Given the description of an element on the screen output the (x, y) to click on. 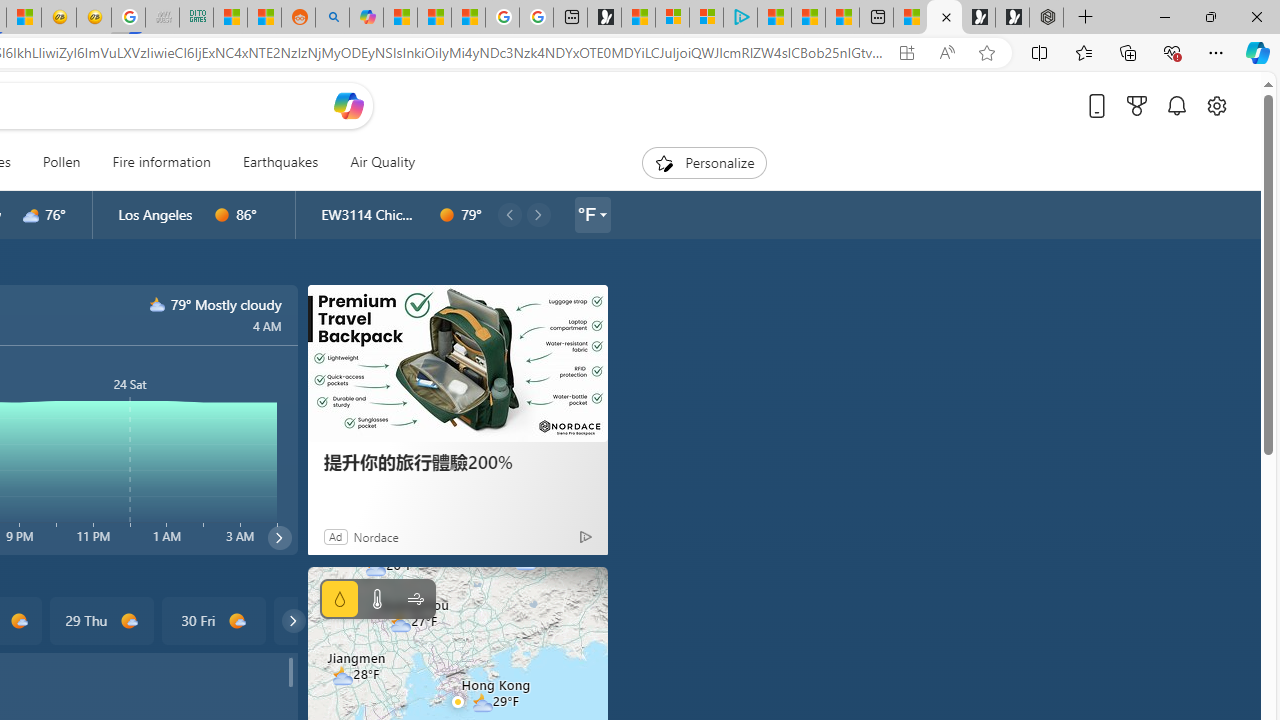
Earthquakes (279, 162)
d0000 (447, 215)
Microsoft Copilot in Bing (365, 17)
Fire information (161, 162)
30 Fri d1000 (213, 620)
locationBar/triangle (602, 214)
These 3 Stocks Pay You More Than 5% to Own Them (841, 17)
Fire information (161, 162)
